Given the description of an element on the screen output the (x, y) to click on. 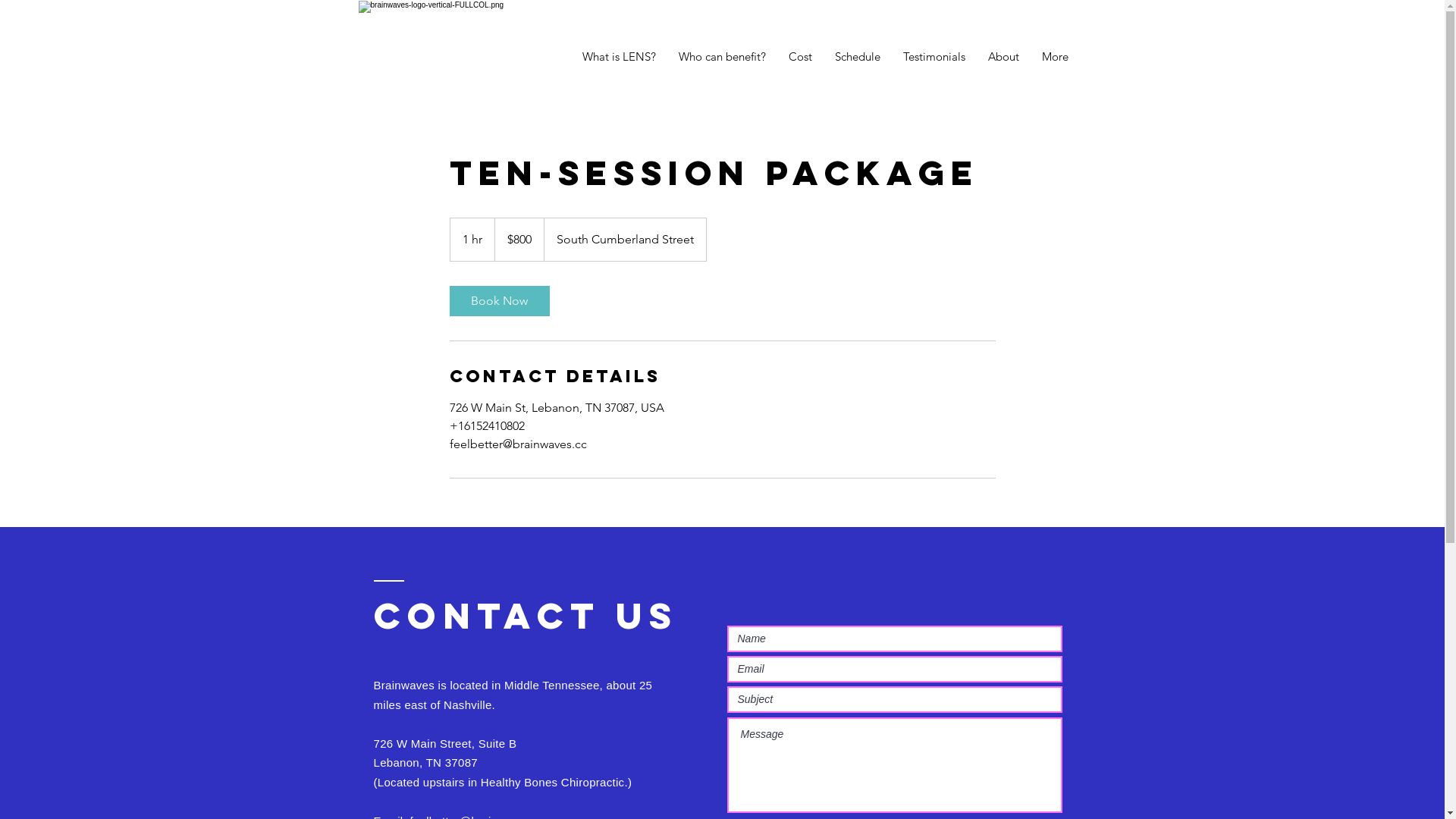
Who can benefit? Element type: text (722, 56)
brainwaves-logo-verticalw_tag-WHTonFULLC Element type: hover (446, 56)
What is LENS? Element type: text (618, 56)
About Element type: text (1003, 56)
Book Now Element type: text (498, 300)
Cost Element type: text (799, 56)
Testimonials Element type: text (933, 56)
Schedule Element type: text (857, 56)
